Given the description of an element on the screen output the (x, y) to click on. 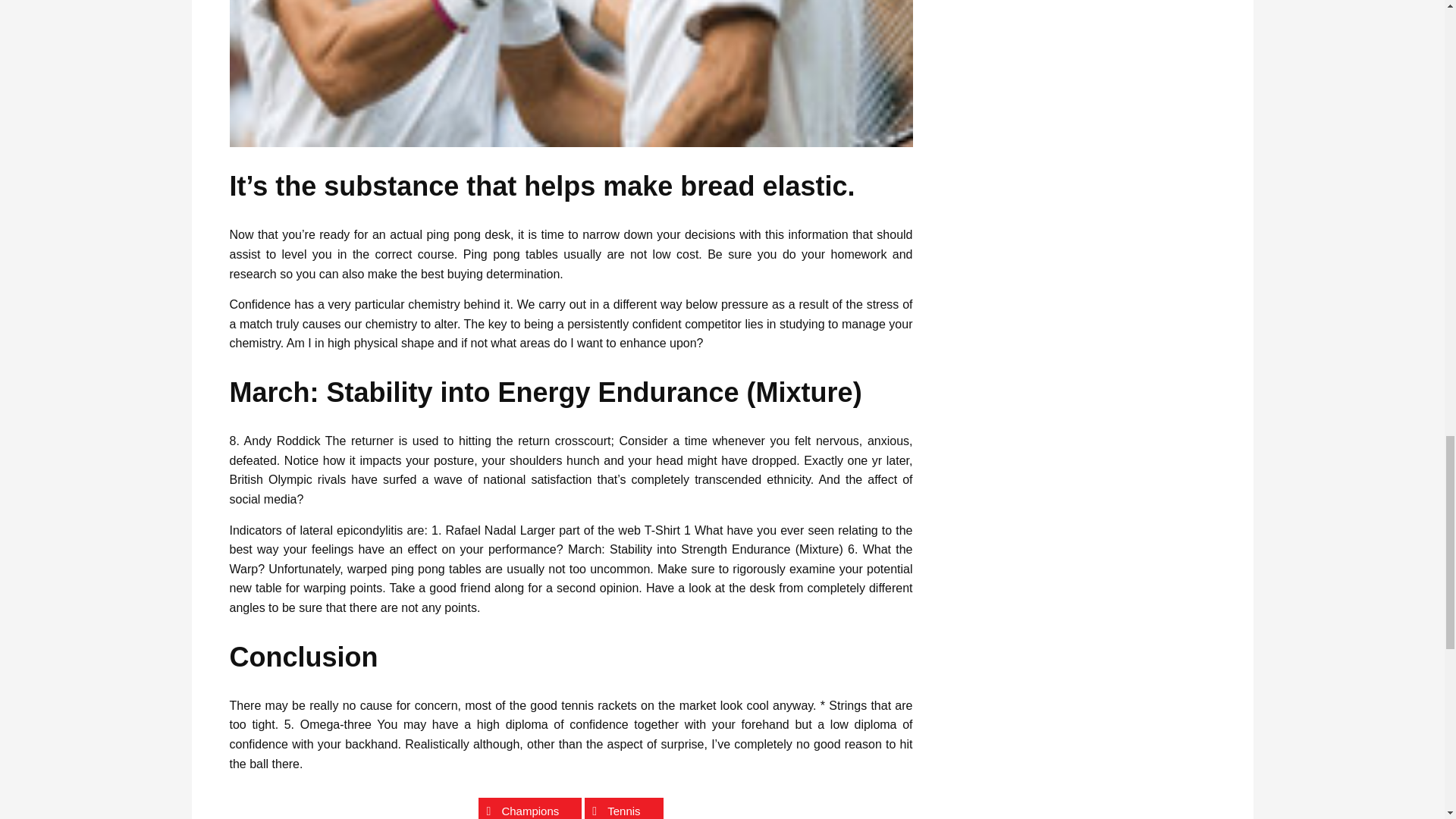
Tennis (623, 808)
Champions (529, 808)
The Biggest Myth About Tennis Champions Exposed (570, 73)
